Given the description of an element on the screen output the (x, y) to click on. 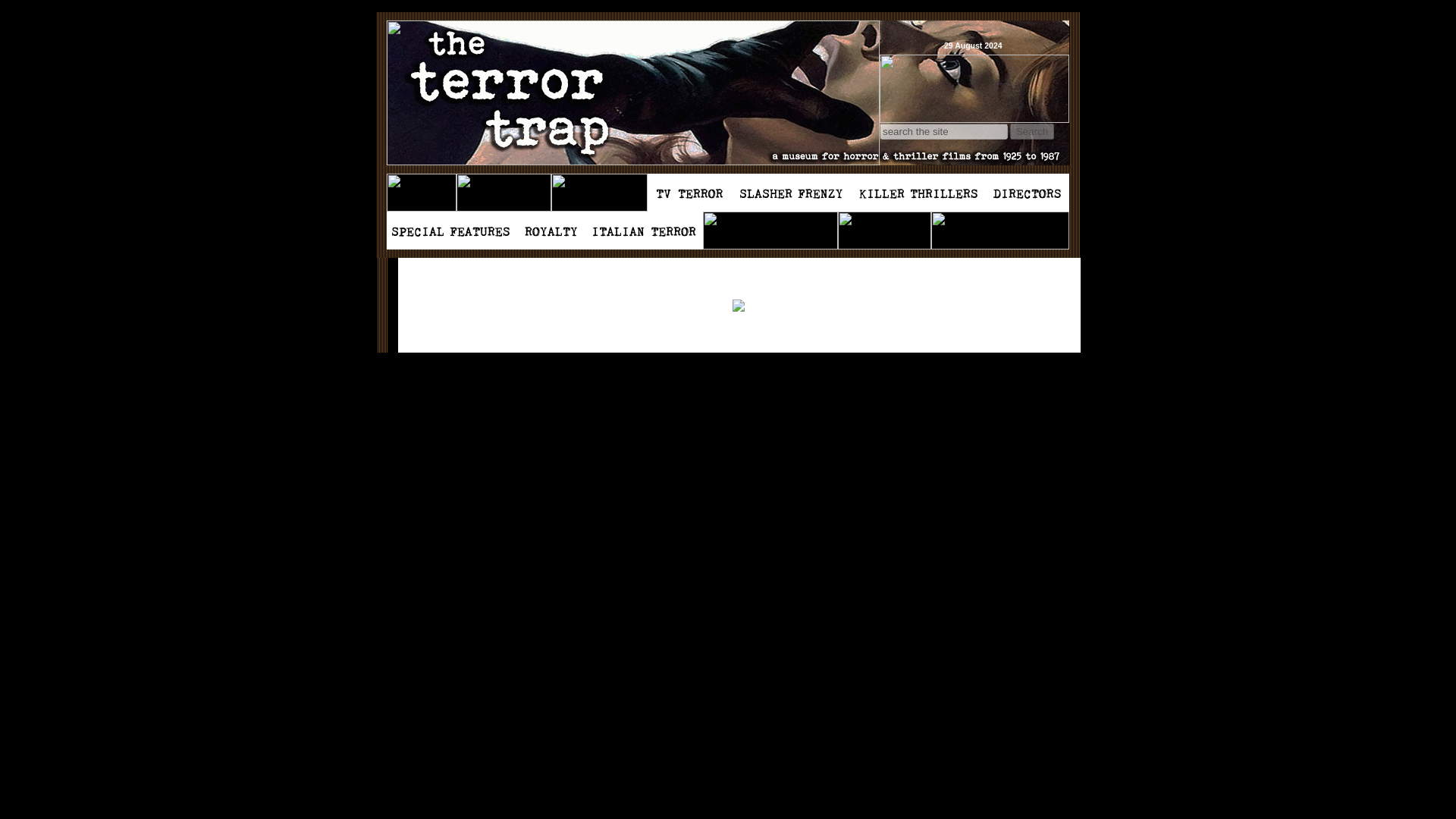
Search (1032, 131)
Search (1032, 131)
search the site (943, 131)
